Given the description of an element on the screen output the (x, y) to click on. 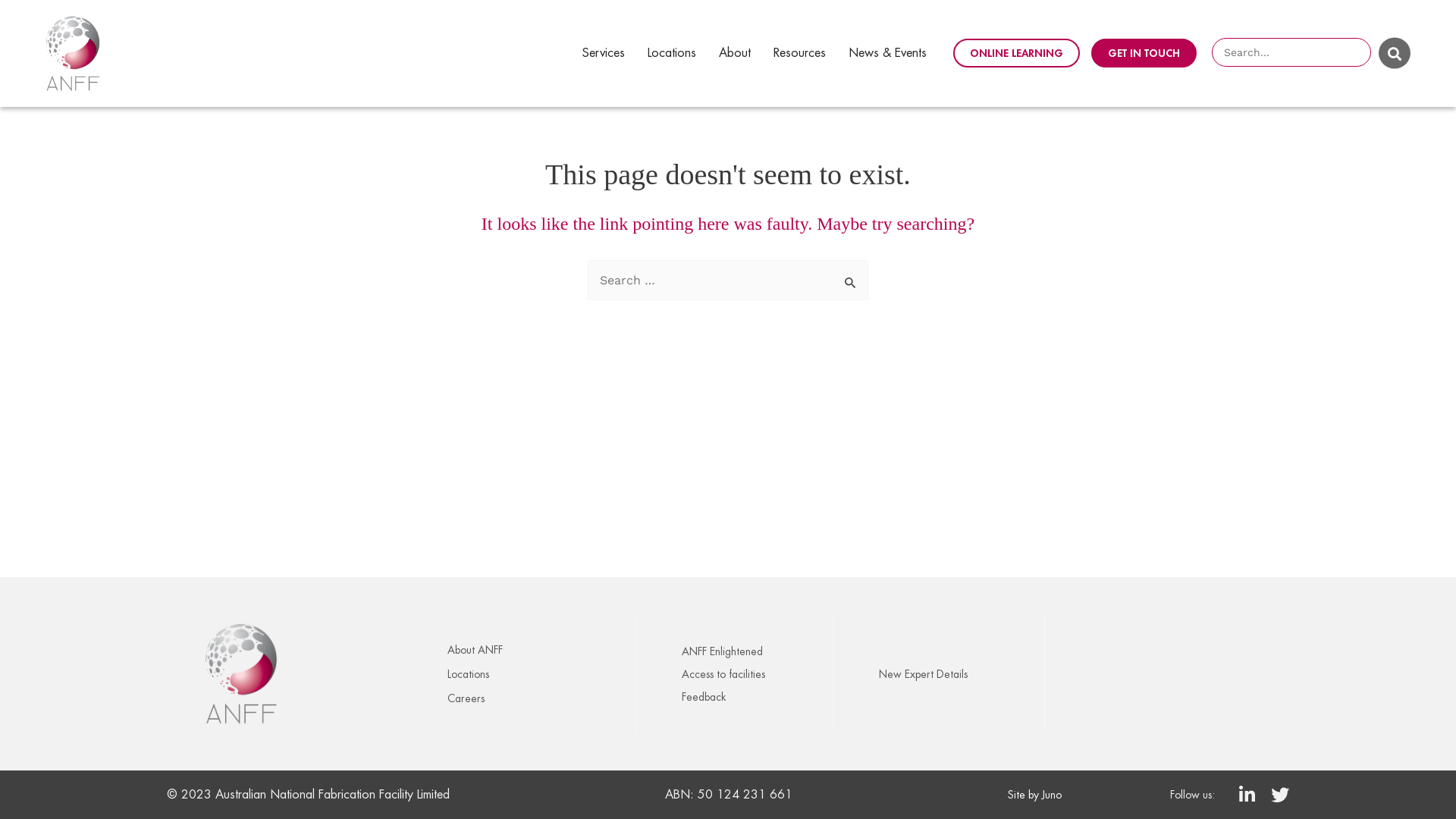
ONLINE LEARNING Element type: text (1016, 52)
Search Element type: text (851, 275)
Careers Element type: text (537, 698)
New Expert Details Element type: text (957, 673)
GET IN TOUCH Element type: text (1143, 52)
About ANFF Element type: text (537, 649)
Services Element type: text (603, 52)
Twitter Element type: text (1279, 794)
Locations Element type: text (537, 673)
Linkedin-in Element type: text (1246, 794)
Site by Juno Element type: text (1034, 794)
News & Events Element type: text (887, 52)
Resources Element type: text (799, 52)
ANFF Enlightened Element type: text (752, 650)
Locations Element type: text (671, 52)
Feedback Element type: text (752, 696)
Access to facilities Element type: text (752, 673)
About Element type: text (734, 52)
